Given the description of an element on the screen output the (x, y) to click on. 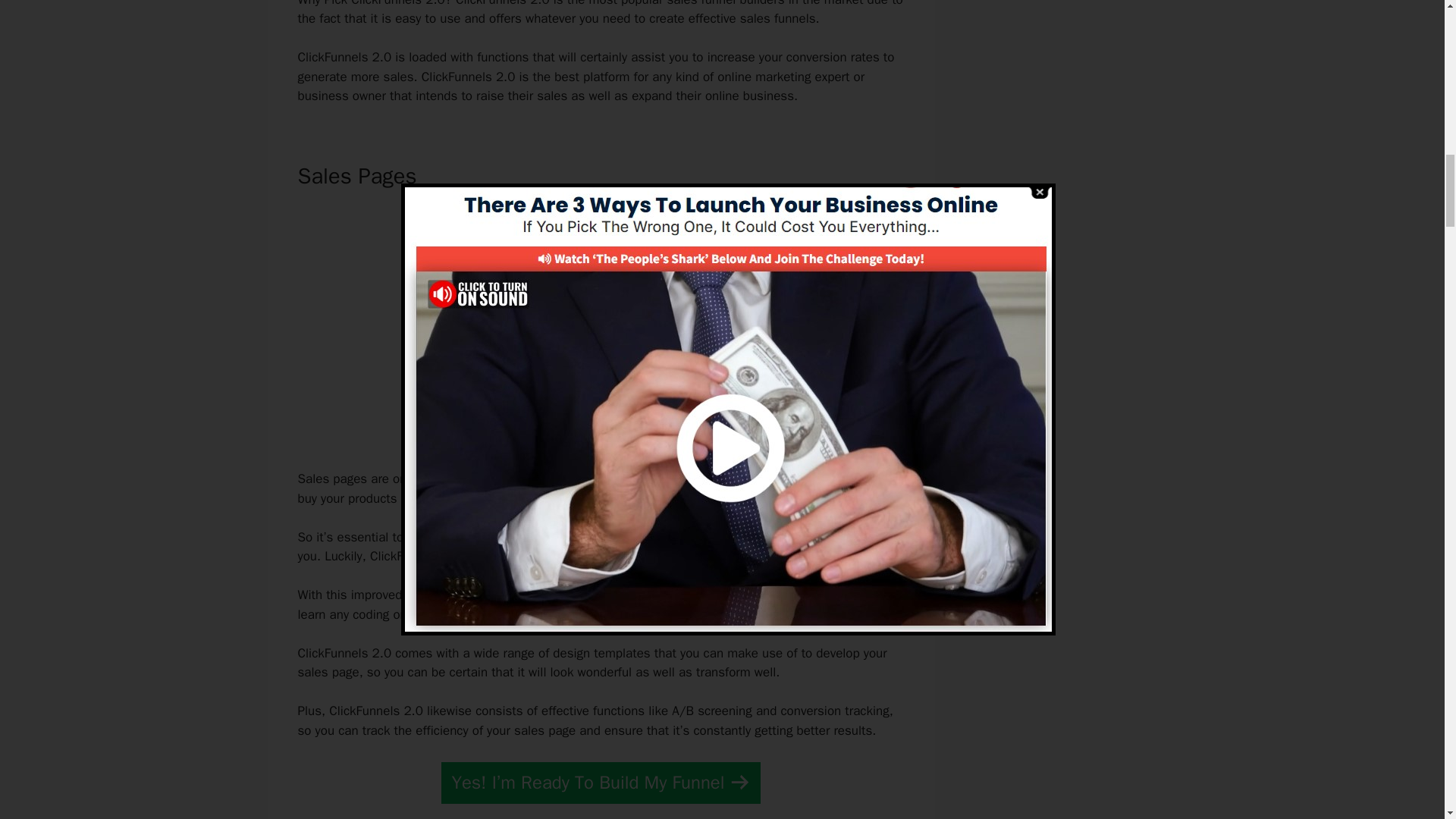
YouTube video player (596, 324)
